Given the description of an element on the screen output the (x, y) to click on. 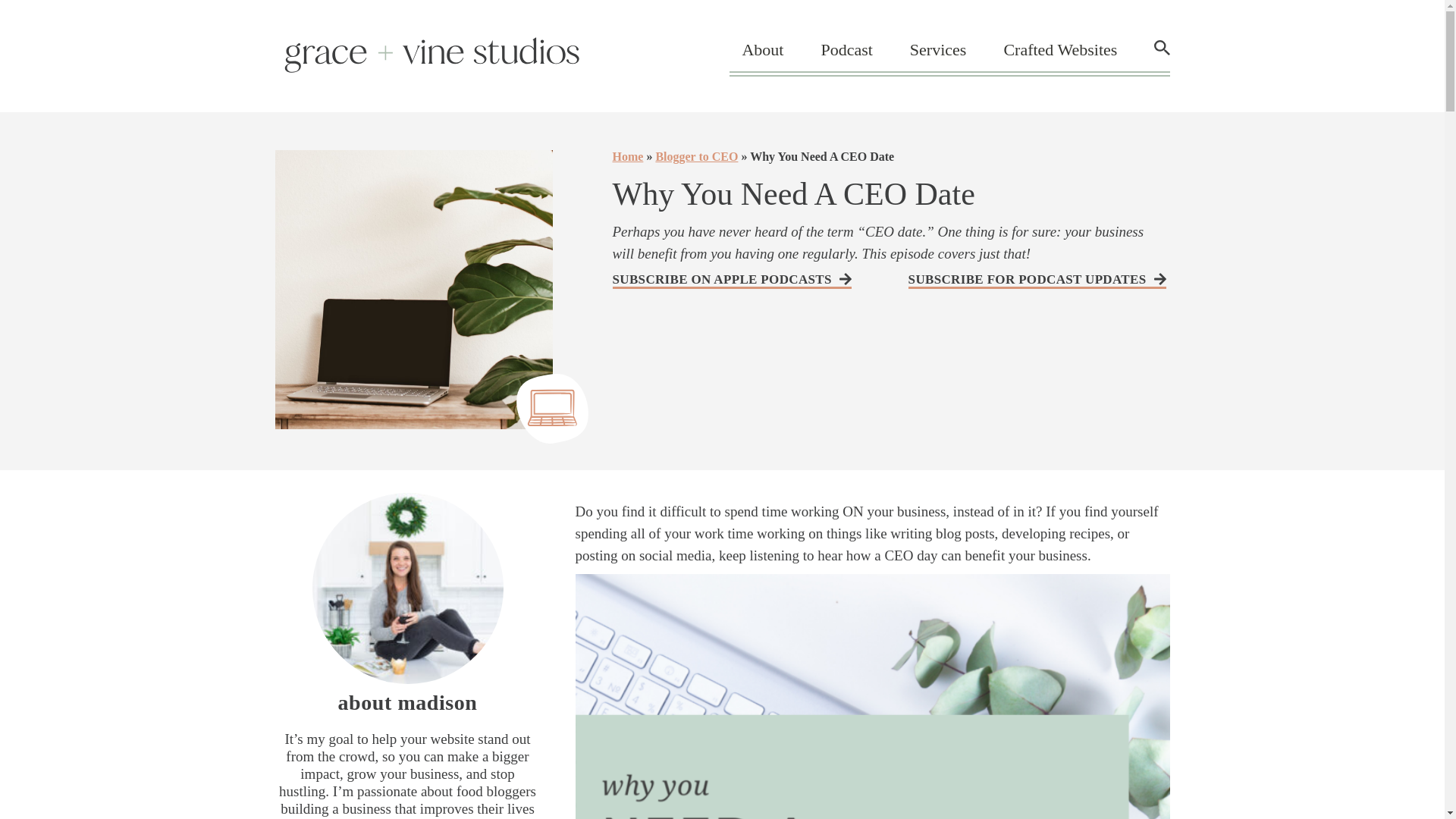
Home (627, 156)
Blogger to CEO (696, 156)
Podcast (846, 49)
SUBSCRIBE ON APPLE PODCASTS (731, 280)
Services (938, 49)
Crafted Websites (1059, 49)
About (762, 49)
SUBSCRIBE FOR PODCAST UPDATES (1037, 280)
